Given the description of an element on the screen output the (x, y) to click on. 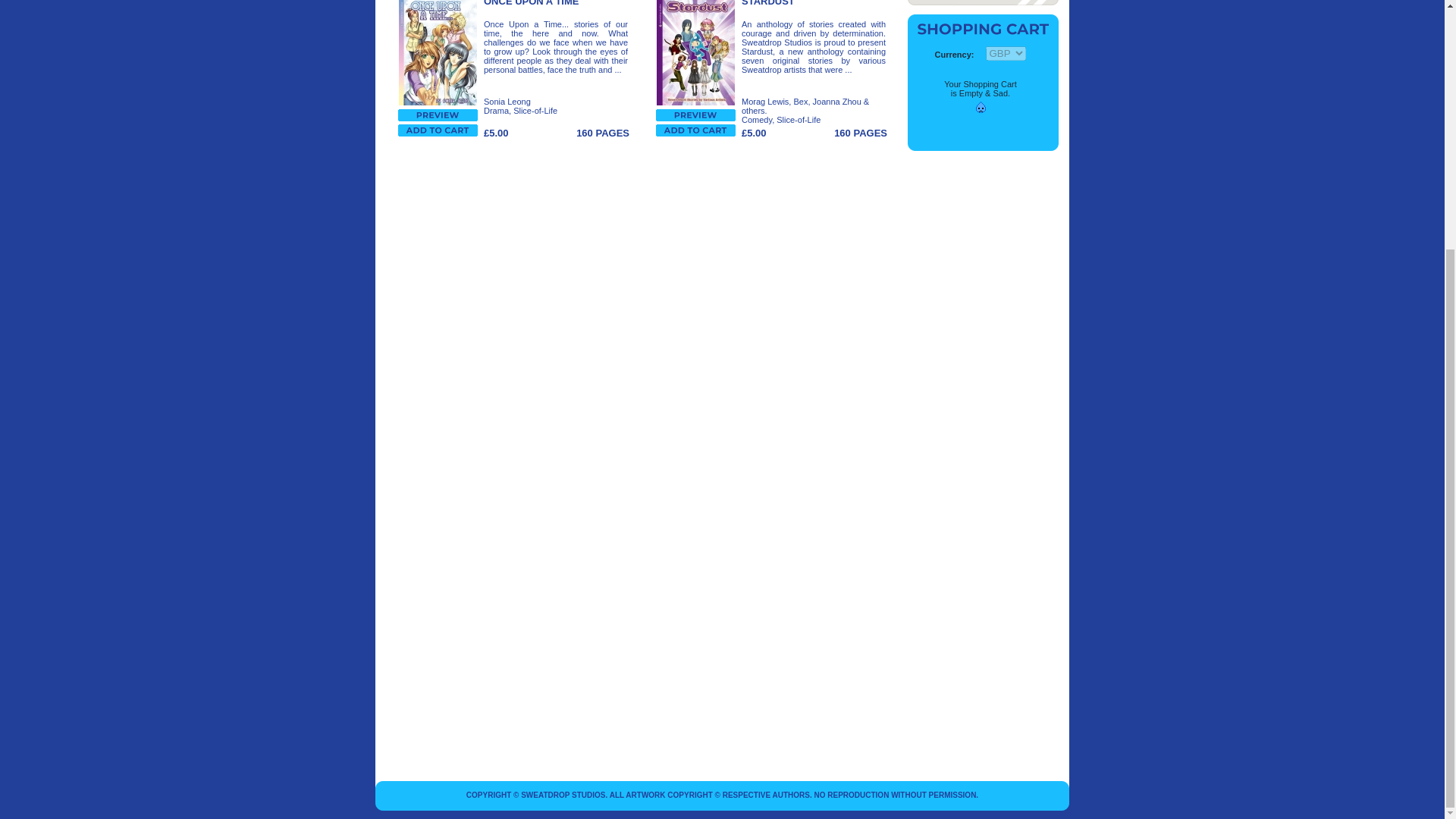
Joanna Zhou (836, 101)
Bex (800, 101)
Slice-of-Life (535, 110)
Slice-of-Life (798, 119)
Comedy (756, 119)
Drama (495, 110)
Morag Lewis (765, 101)
Sonia Leong (507, 101)
